Given the description of an element on the screen output the (x, y) to click on. 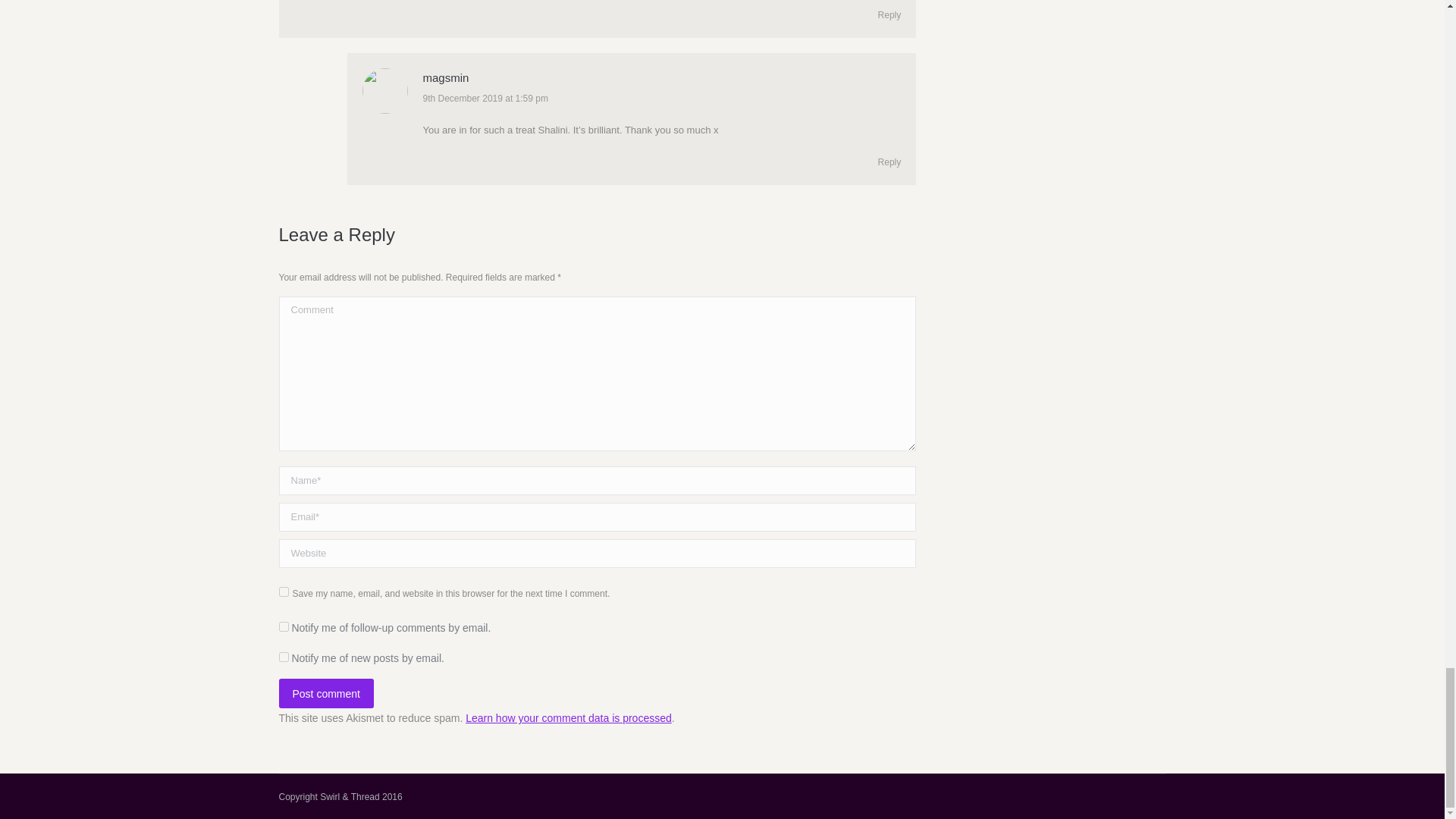
subscribe (283, 626)
yes (283, 592)
subscribe (283, 656)
